Given the description of an element on the screen output the (x, y) to click on. 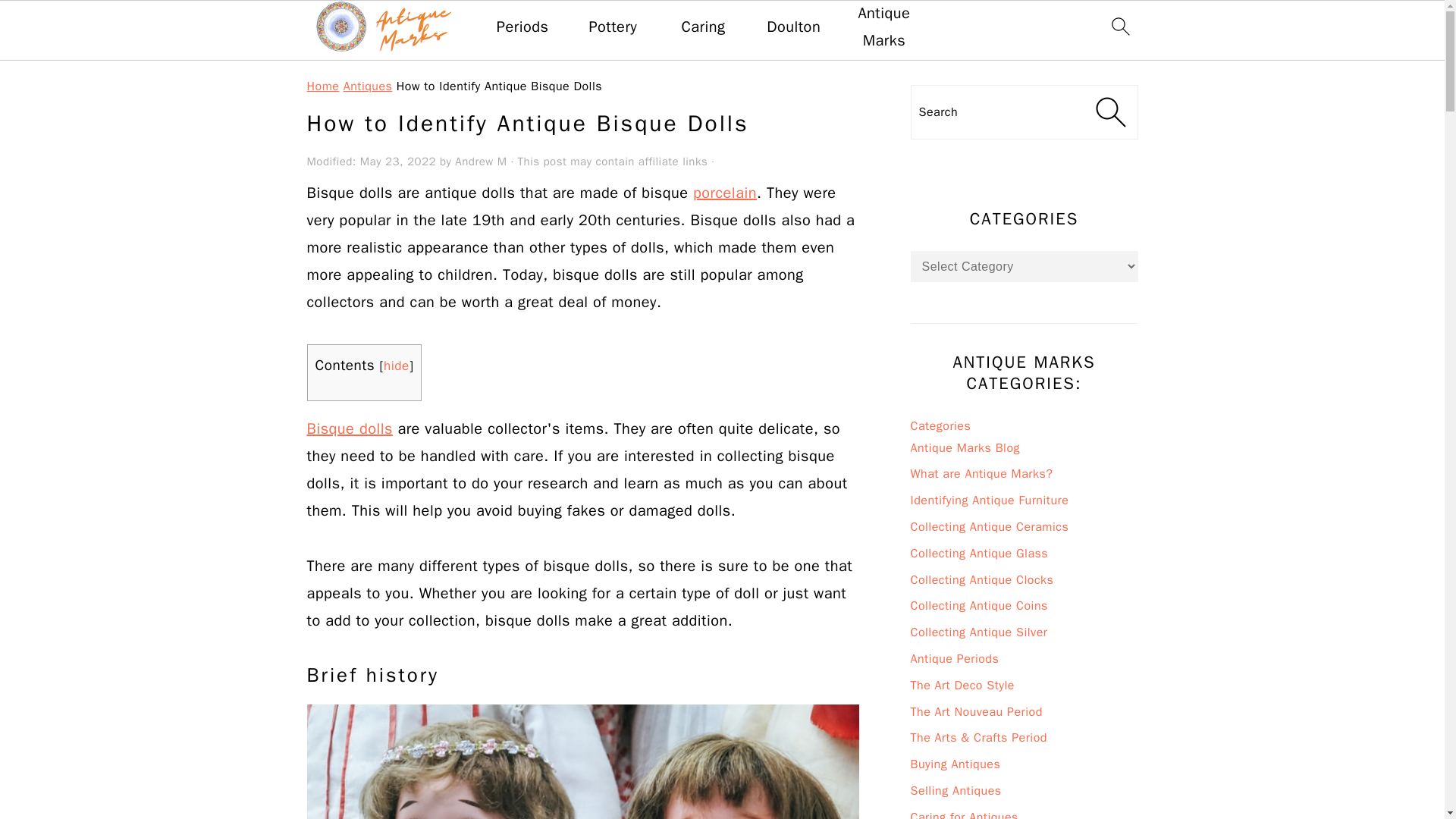
Periods (522, 26)
Antique Marks (883, 27)
Antique Marks Home Page (883, 27)
Pottery (612, 26)
search icon (1119, 26)
Caring (703, 26)
Doulton (794, 26)
